Given the description of an element on the screen output the (x, y) to click on. 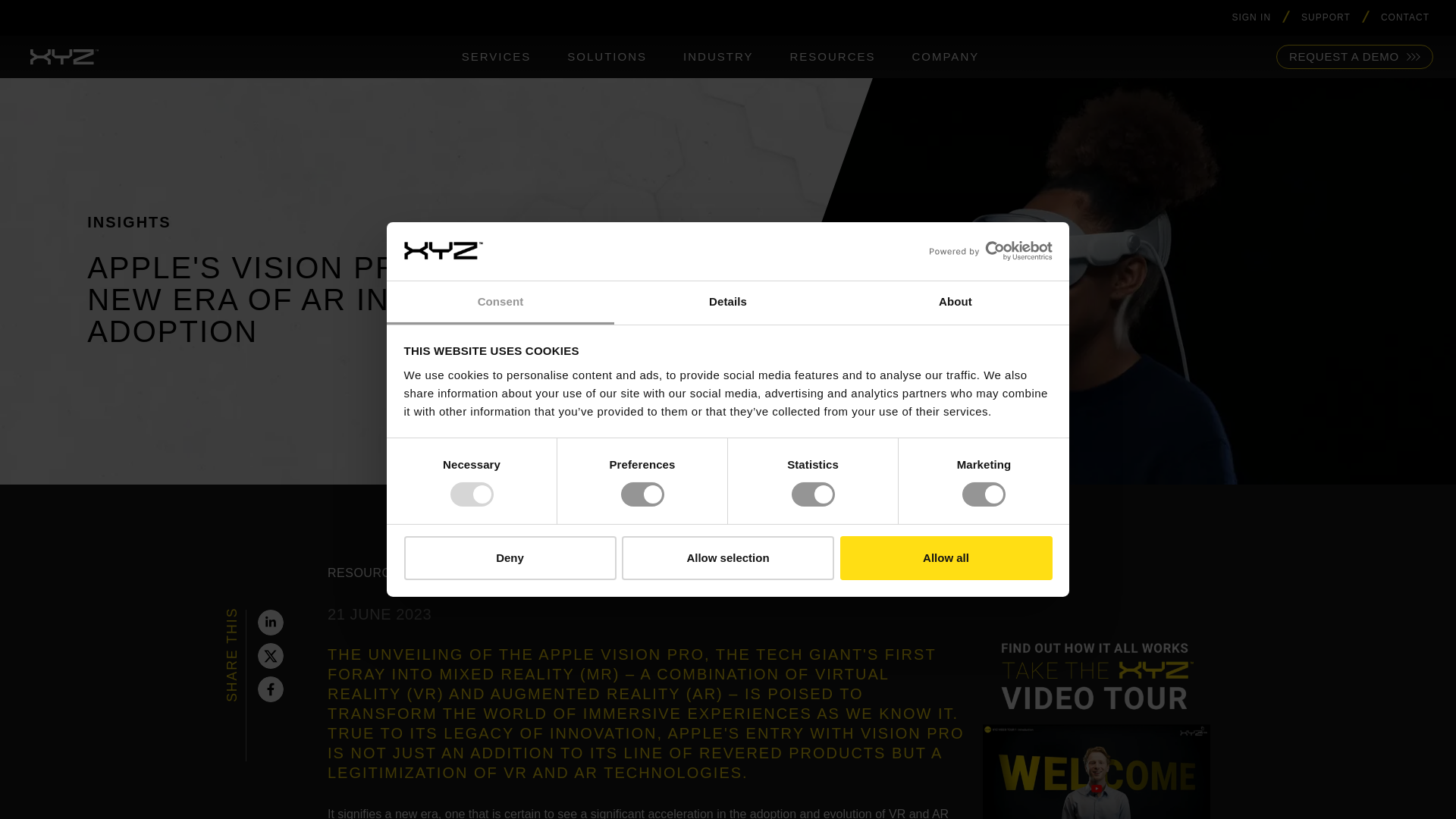
Consent (500, 302)
About (954, 302)
Details (727, 302)
on (939, 571)
